Given the description of an element on the screen output the (x, y) to click on. 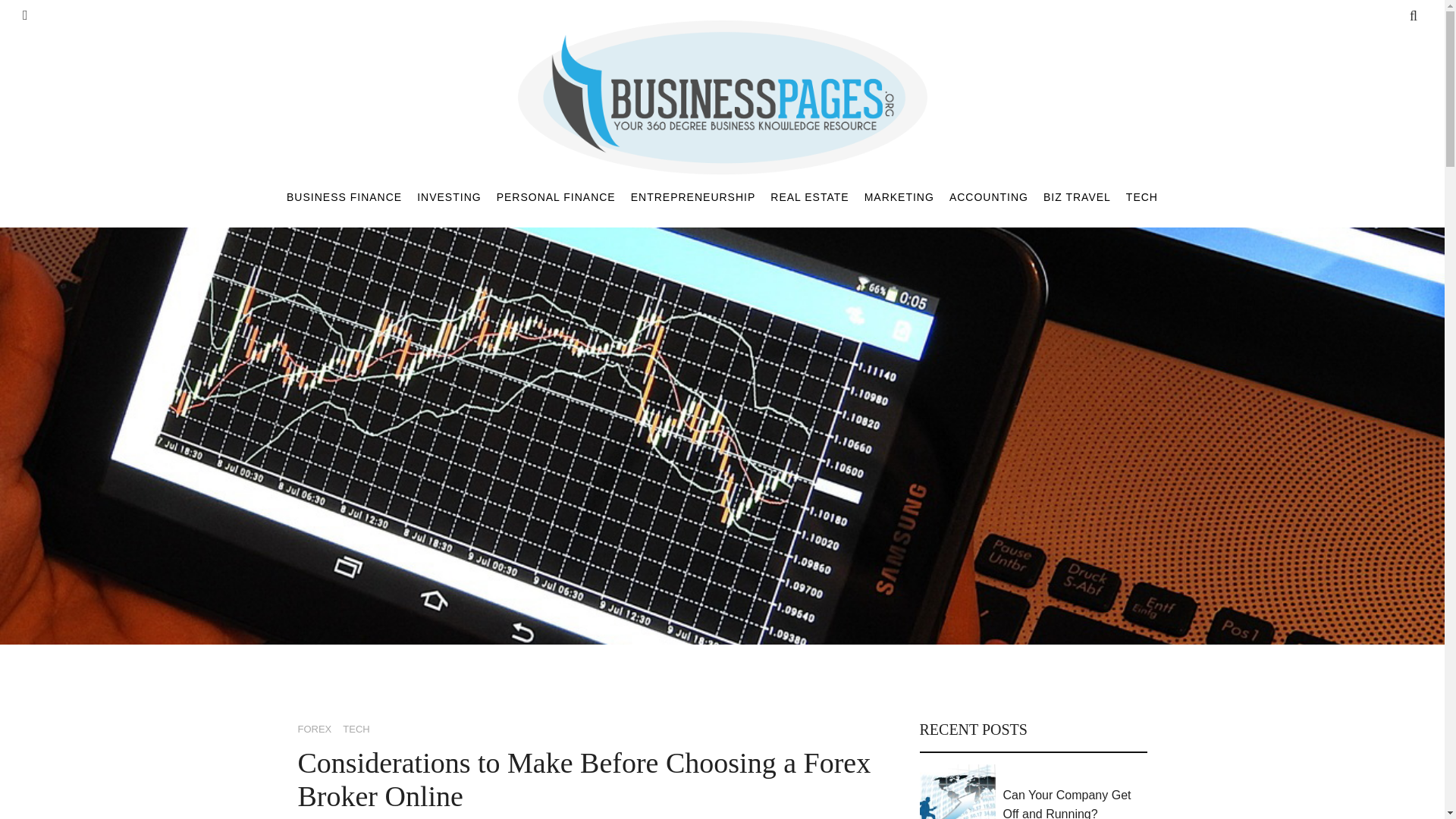
PERSONAL FINANCE (555, 196)
TECH (1141, 196)
REAL ESTATE (809, 196)
TECH (355, 729)
ENTREPRENEURSHIP (692, 196)
MARKETING (899, 196)
ACCOUNTING (988, 196)
INVESTING (448, 196)
BIZ TRAVEL (1076, 196)
FOREX (314, 729)
